Given the description of an element on the screen output the (x, y) to click on. 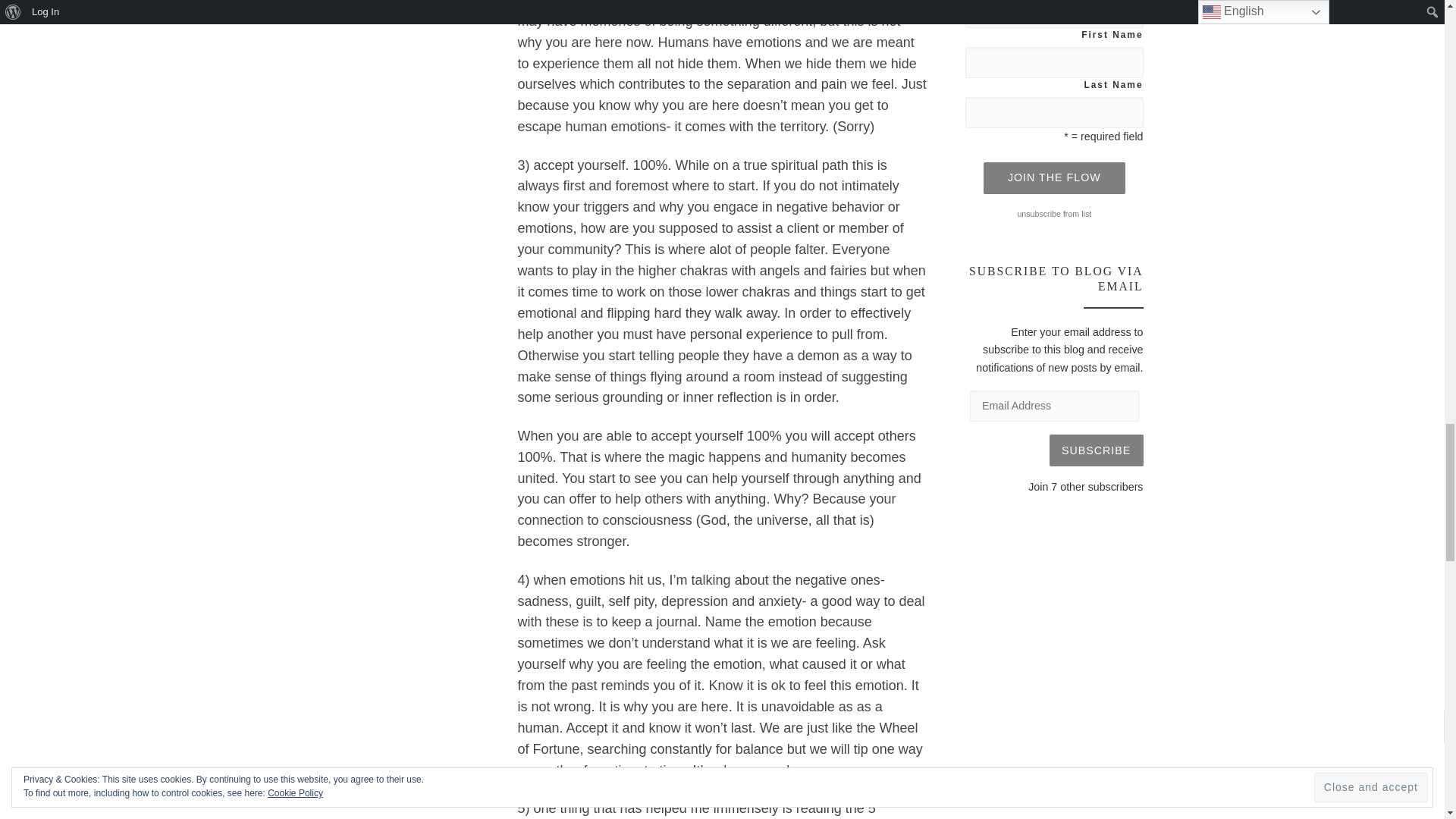
Join the Flow (1054, 178)
